Given the description of an element on the screen output the (x, y) to click on. 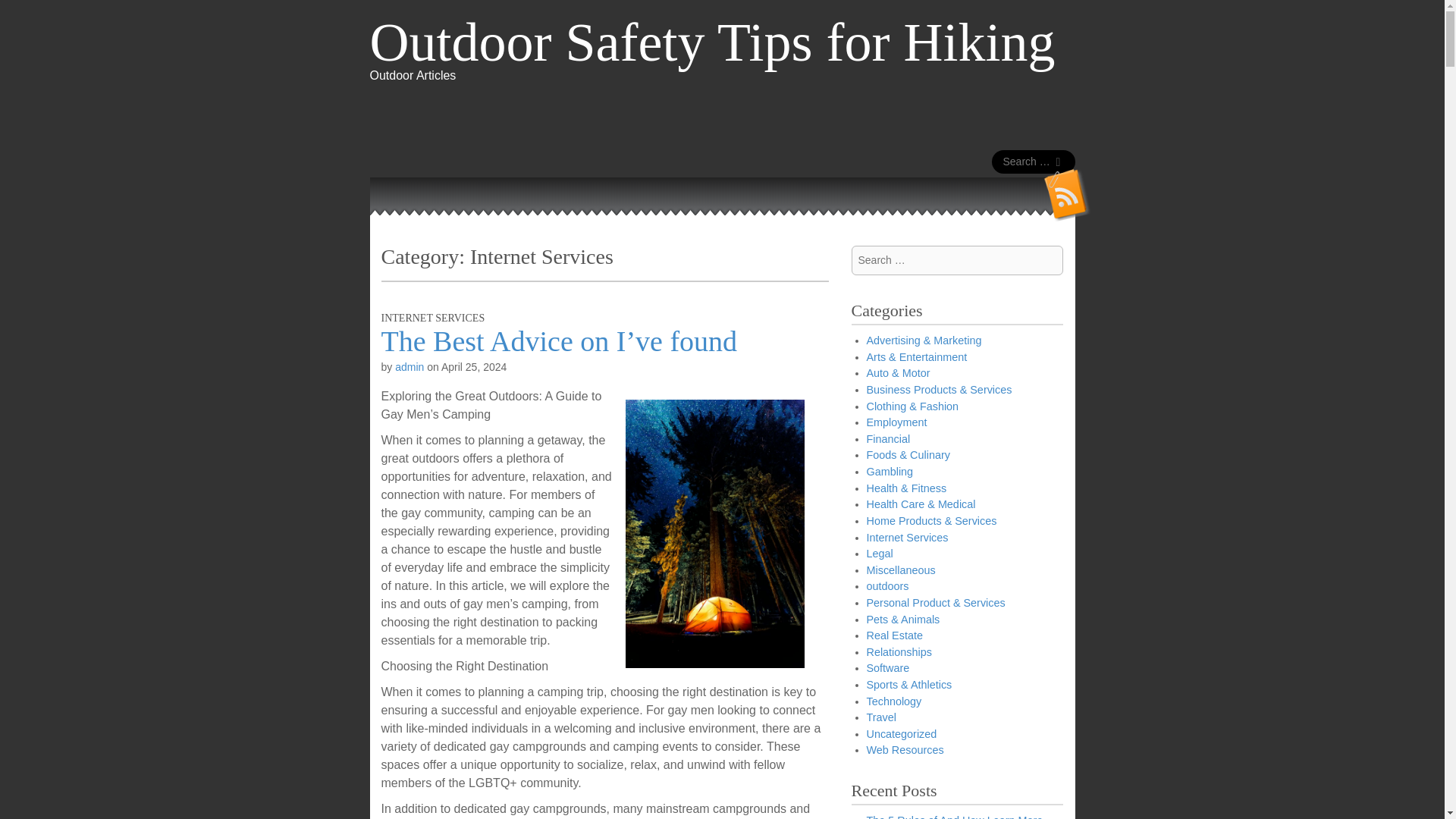
Outdoor Safety Tips for Hiking (712, 42)
Search (23, 14)
April 25, 2024 (473, 367)
Posts by admin (408, 367)
INTERNET SERVICES (432, 317)
admin (408, 367)
Outdoor Safety Tips for Hiking (712, 42)
